Given the description of an element on the screen output the (x, y) to click on. 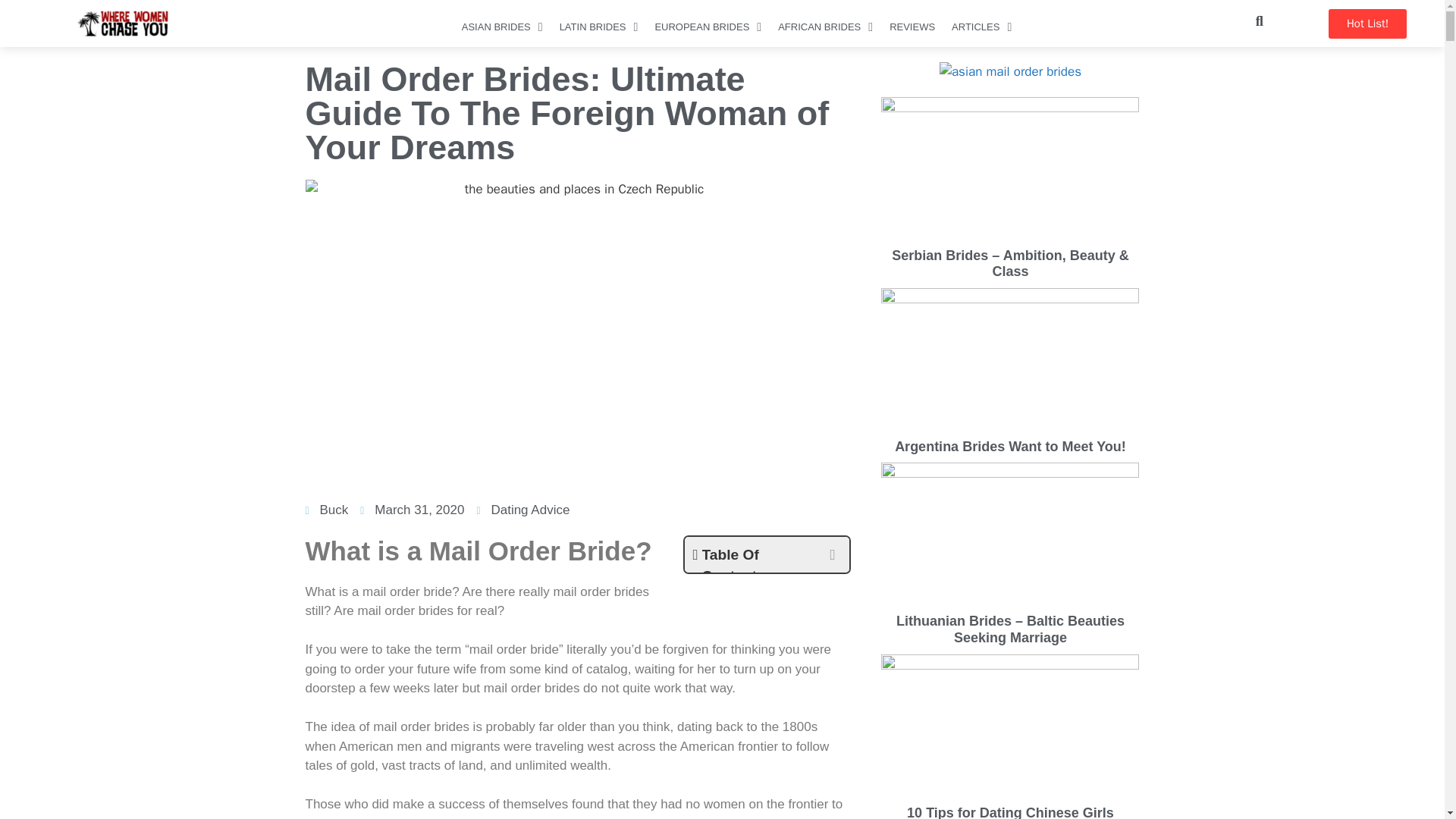
AFRICAN BRIDES (825, 31)
ARTICLES (981, 31)
ASIAN BRIDES (502, 31)
EUROPEAN BRIDES (707, 31)
LATIN BRIDES (598, 31)
